Given the description of an element on the screen output the (x, y) to click on. 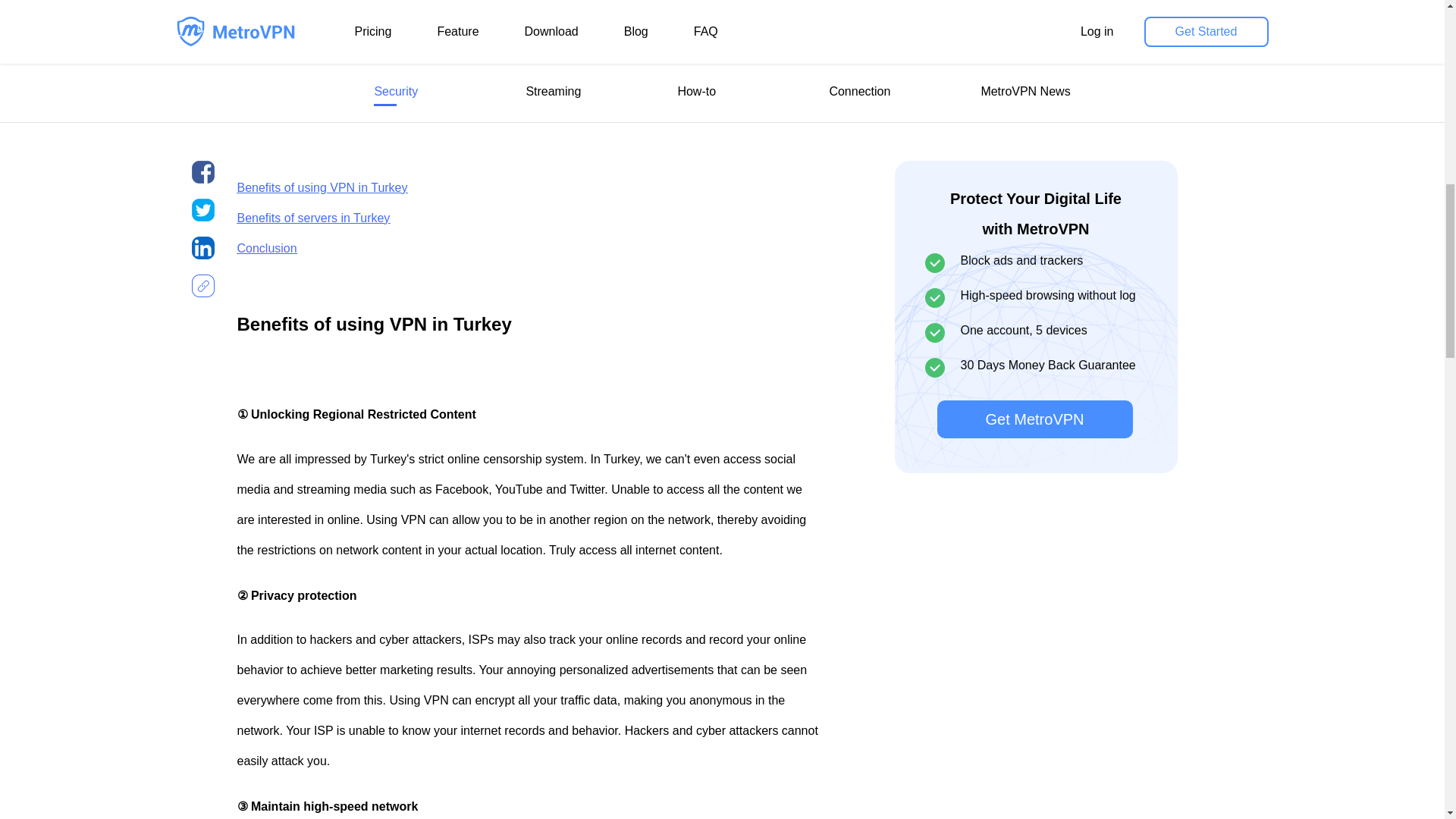
Get MetroVPN (1028, 138)
Conclusion (266, 247)
Benefits of servers in Turkey (312, 217)
Get MetroVPN (1034, 142)
Benefits of using VPN in Turkey (321, 187)
